Given the description of an element on the screen output the (x, y) to click on. 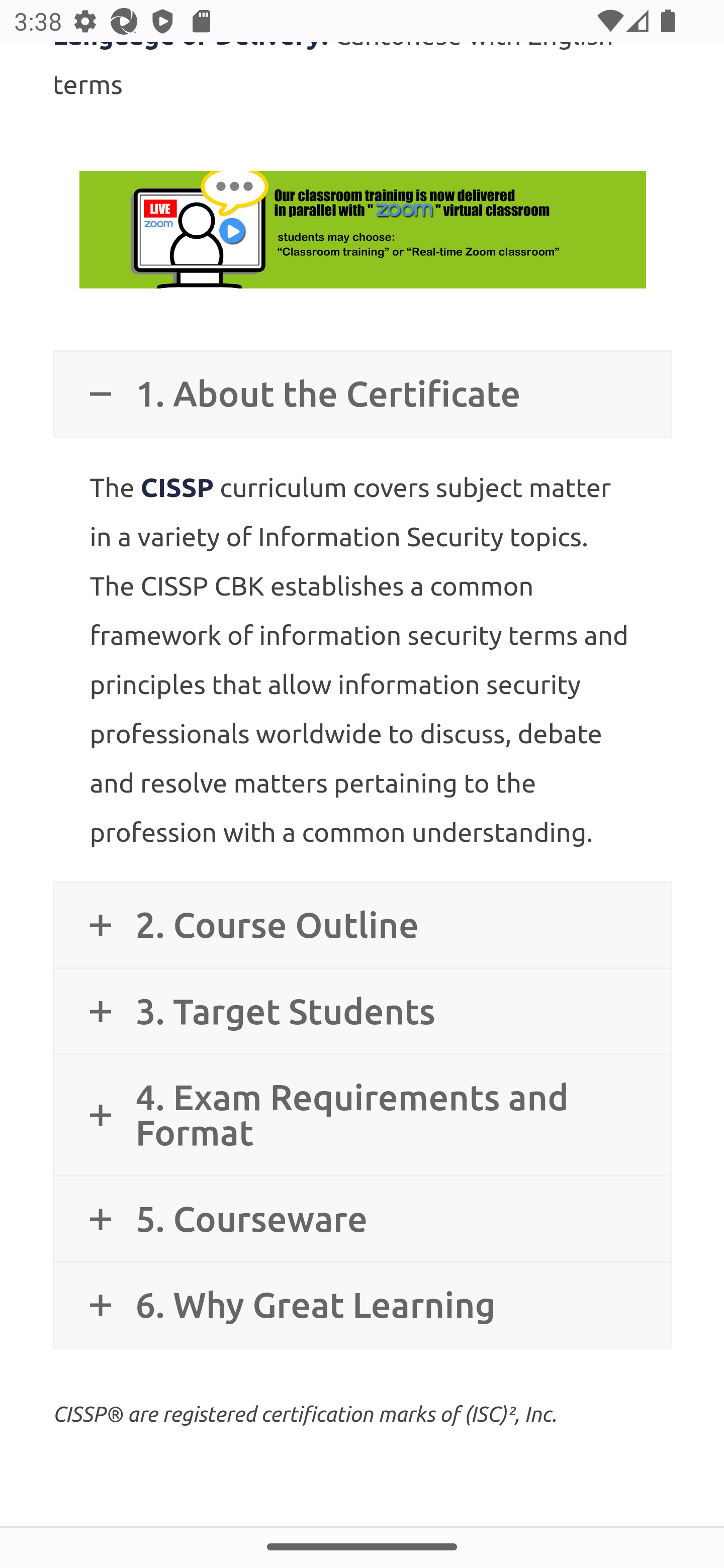
5. Courseware 5. Courseware 5. Courseware (361, 1219)
